Given the description of an element on the screen output the (x, y) to click on. 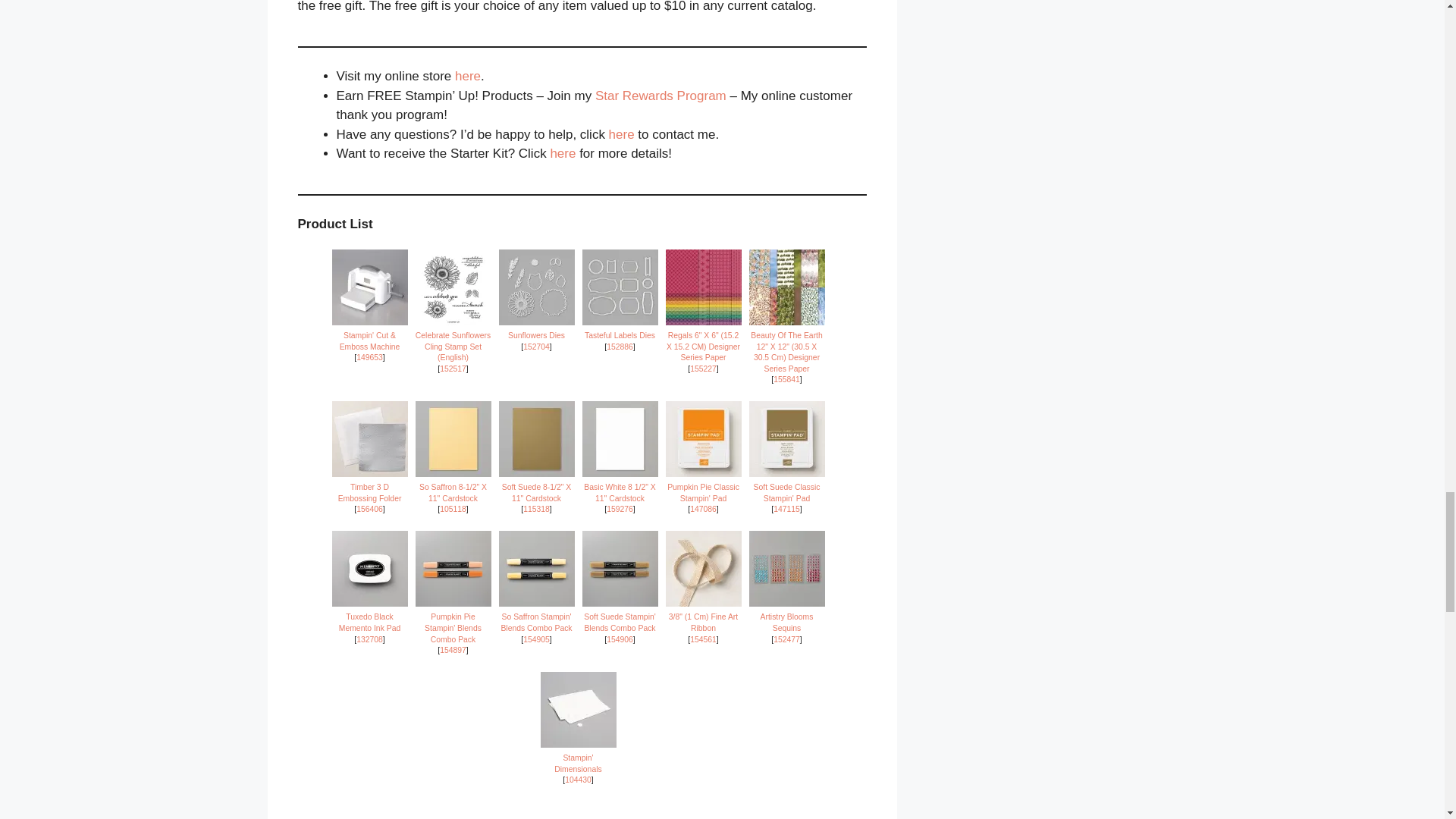
Tasteful Labels Dies (620, 320)
Tasteful Labels Dies (620, 287)
here (467, 75)
Sunflowers Dies (536, 335)
Star Rewards Program (660, 95)
here (621, 134)
Sunflowers Dies (537, 287)
Sunflowers Dies (536, 347)
Sunflowers Dies (537, 320)
